Given the description of an element on the screen output the (x, y) to click on. 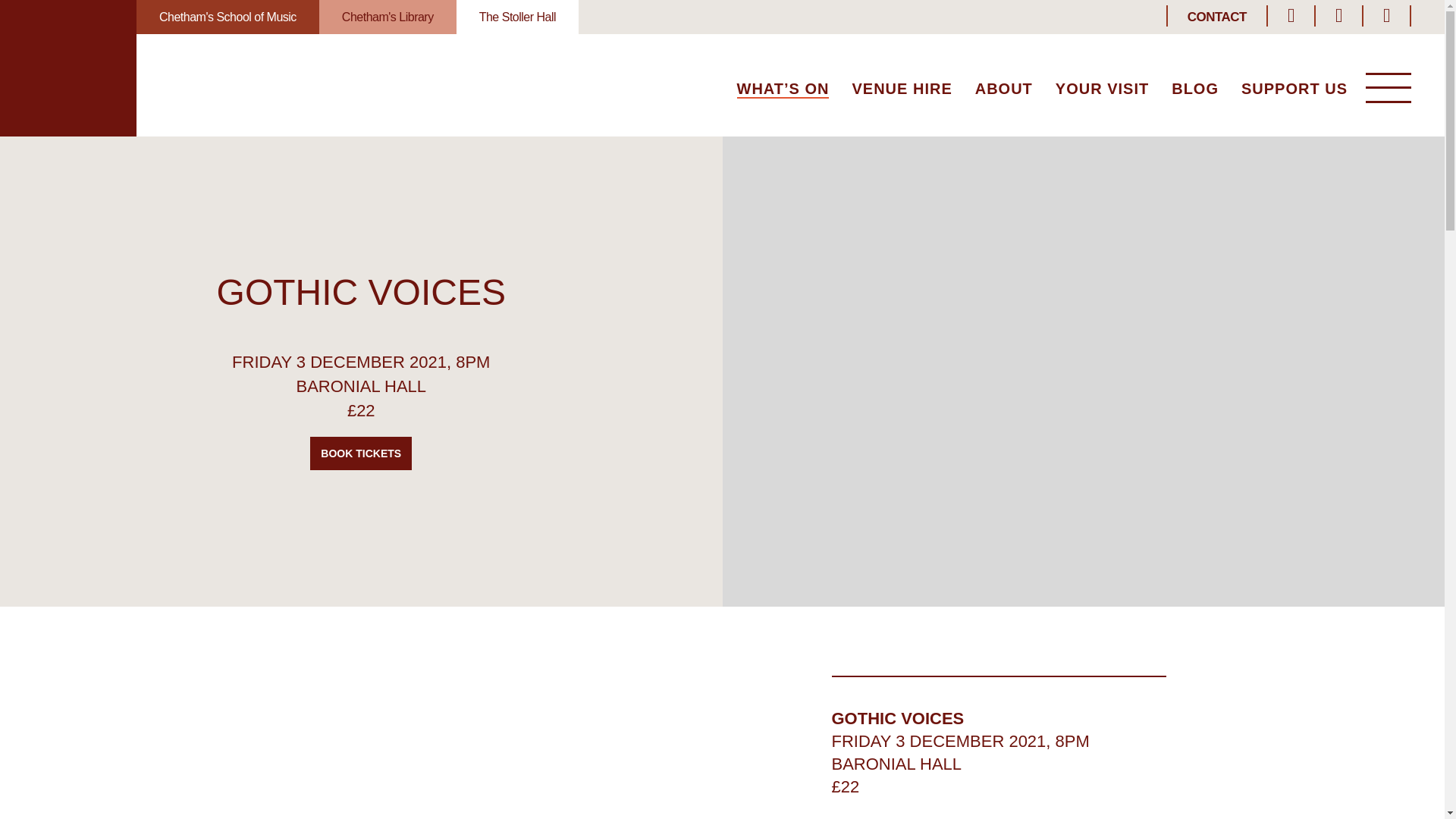
Chetham's Library (387, 16)
ABOUT (1003, 90)
YOUR VISIT (1101, 90)
The Stoller Hall (517, 16)
THE STOLLER HALL (68, 68)
YouTube video player (491, 747)
Chetham's School of Music (227, 16)
VENUE HIRE (901, 90)
CONTACT (1217, 16)
